Given the description of an element on the screen output the (x, y) to click on. 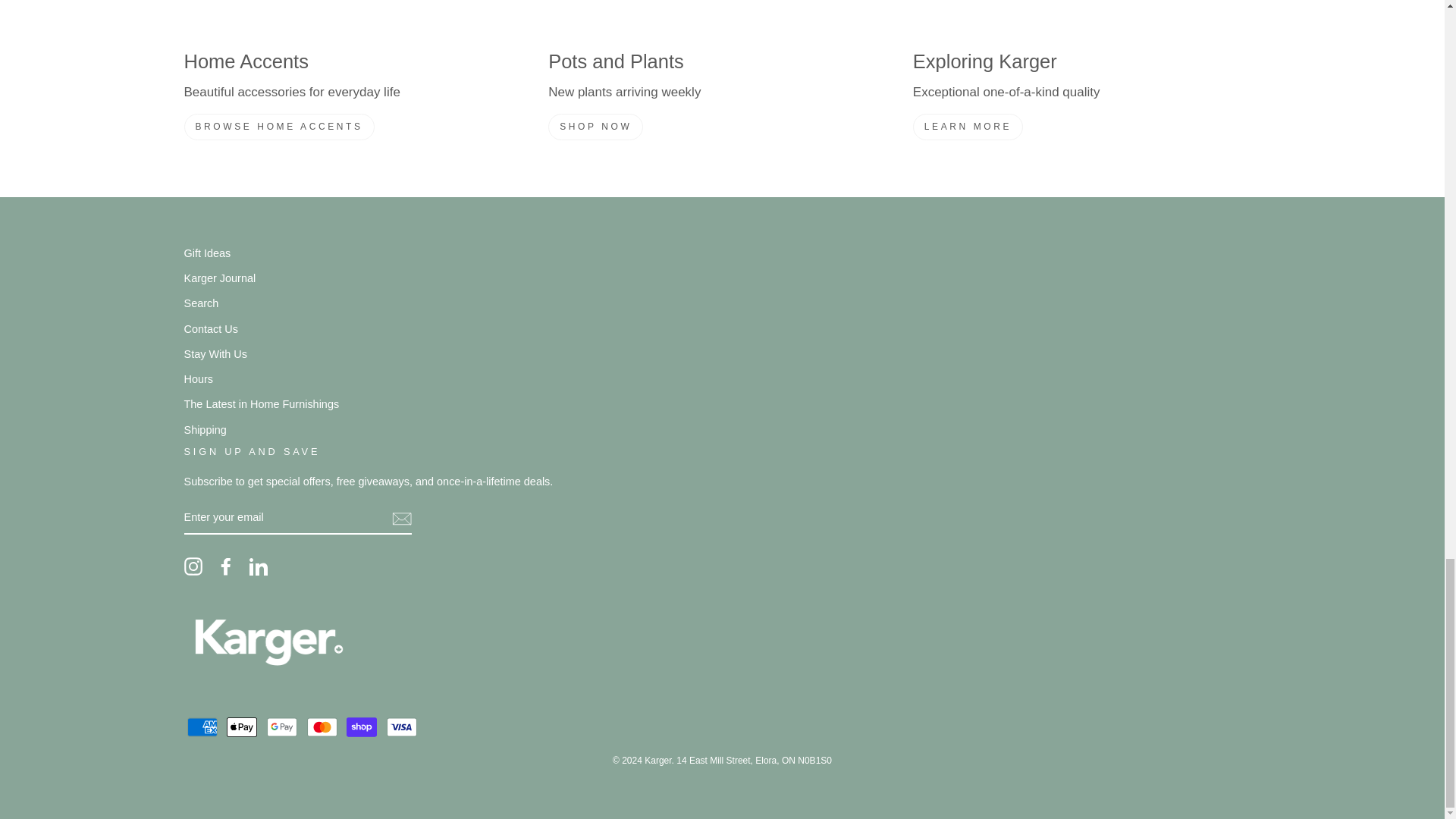
Mastercard (322, 726)
American Express (201, 726)
Karger. on Instagram (192, 566)
Karger. on LinkedIn (257, 566)
Apple Pay (242, 726)
Google Pay (281, 726)
Shop Pay (361, 726)
Karger. on Facebook (225, 566)
